Given the description of an element on the screen output the (x, y) to click on. 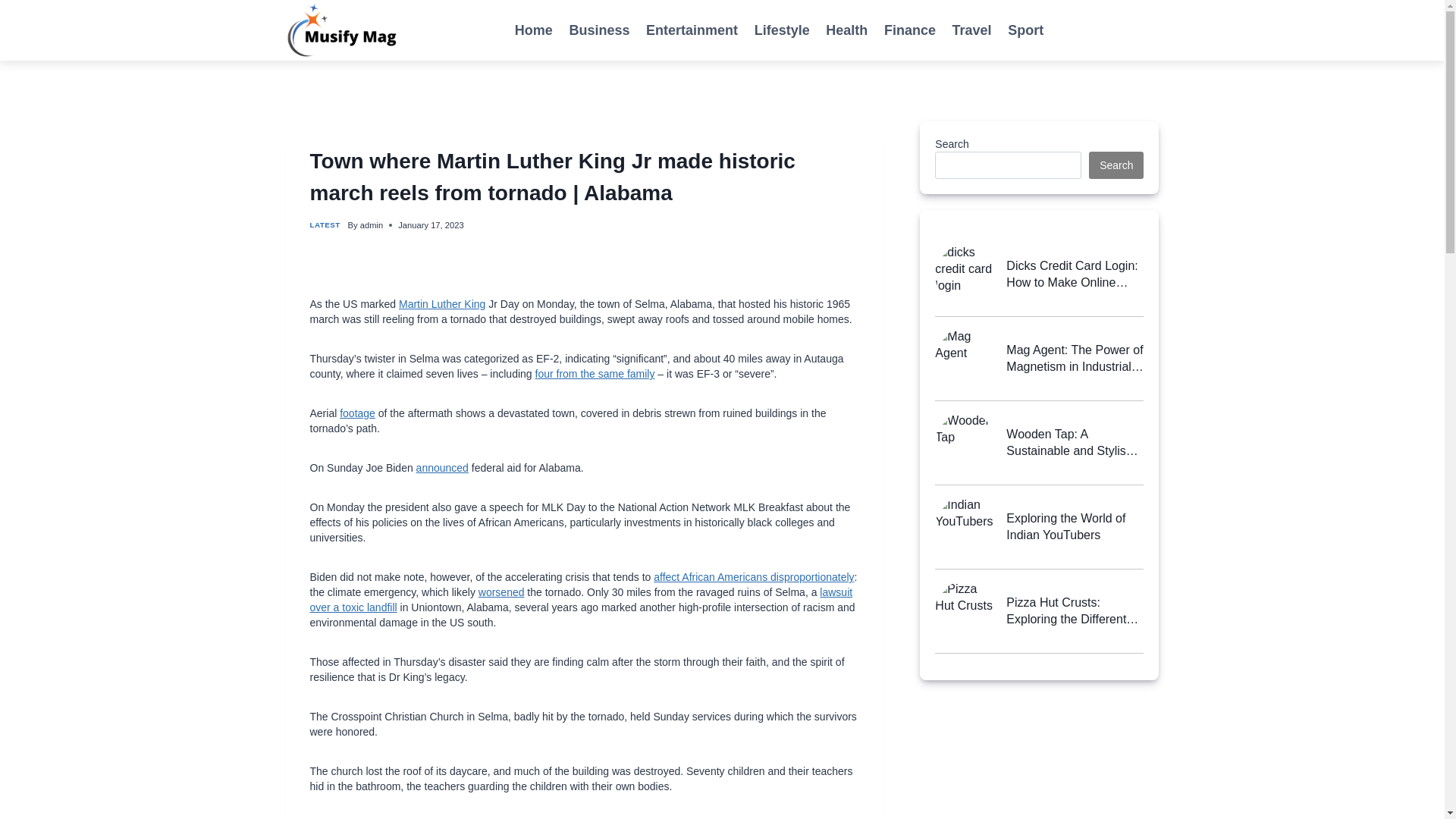
Home (533, 29)
Health (847, 29)
worsened (501, 592)
Entertainment (691, 29)
Sport (1024, 29)
Travel (971, 29)
affect African Americans disproportionately (753, 576)
LATEST (323, 224)
admin (370, 225)
Business (599, 29)
